Given the description of an element on the screen output the (x, y) to click on. 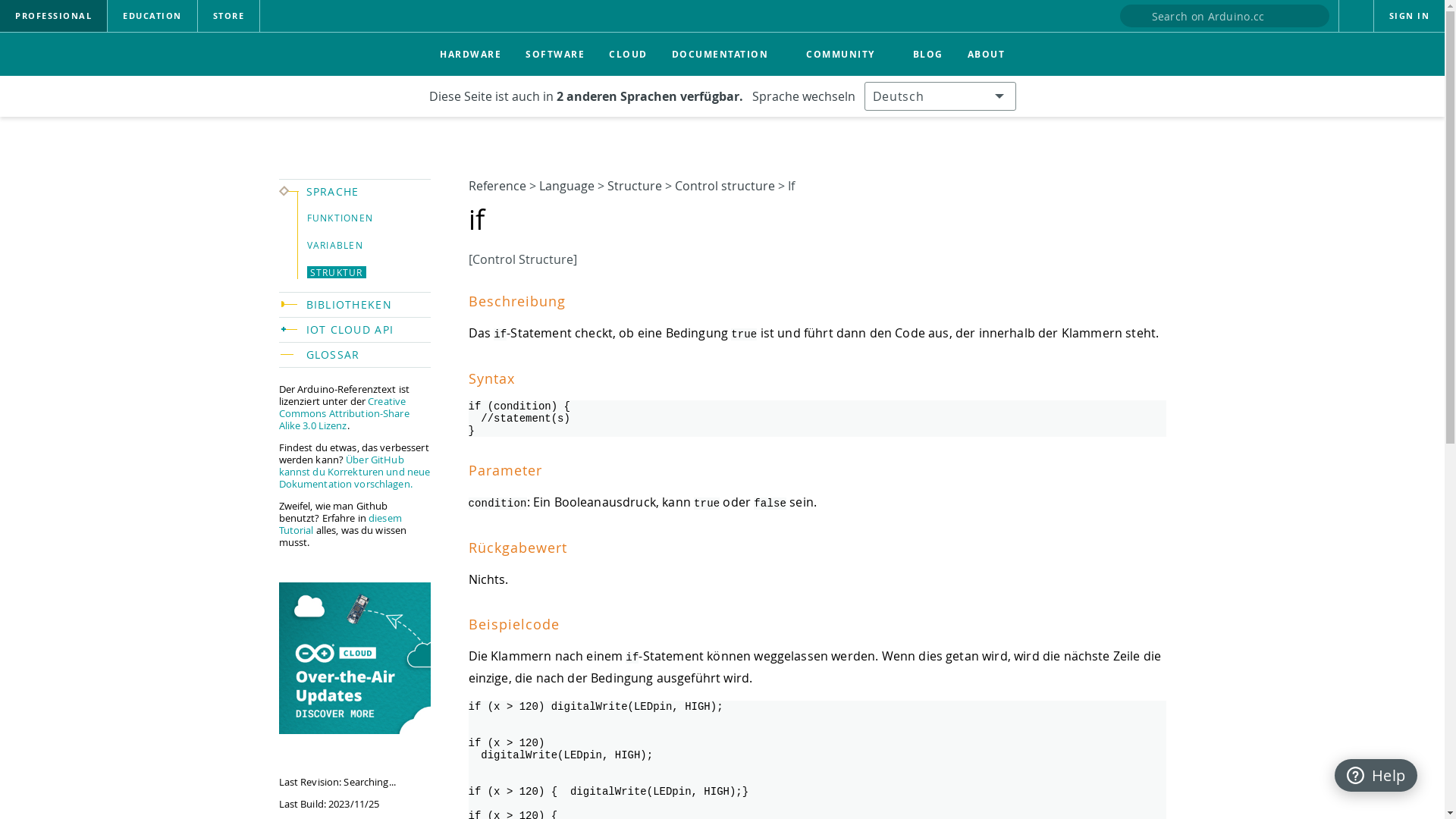
SOFTWARE Element type: text (554, 53)
ABOUT Element type: text (986, 53)
CLOUD Element type: text (627, 53)
BIBLIOTHEKEN Element type: text (368, 304)
Creative Commons Attribution-Share Alike 3.0 Lizenz Element type: text (344, 413)
Help Element type: text (1375, 775)
BLOG Element type: text (927, 53)
Structure Element type: text (633, 185)
Control structure Element type: text (724, 185)
Reference Element type: text (497, 185)
Language Element type: text (565, 185)
SPRACHE Element type: text (368, 191)
DOCUMENTATION Element type: text (726, 53)
STRUKTUR Element type: text (335, 272)
Deutsch Element type: text (940, 95)
PROFESSIONAL Element type: text (53, 15)
IOT CLOUD API Element type: text (368, 329)
SIGN IN Element type: text (1409, 15)
STORE Element type: text (228, 15)
HARDWARE Element type: text (470, 53)
EDUCATION Element type: text (152, 15)
VARIABLEN Element type: text (334, 244)
diesem Tutorial Element type: text (340, 523)
FUNKTIONEN Element type: text (339, 217)
GLOSSAR Element type: text (368, 354)
COMMUNITY Element type: text (846, 53)
